Given the description of an element on the screen output the (x, y) to click on. 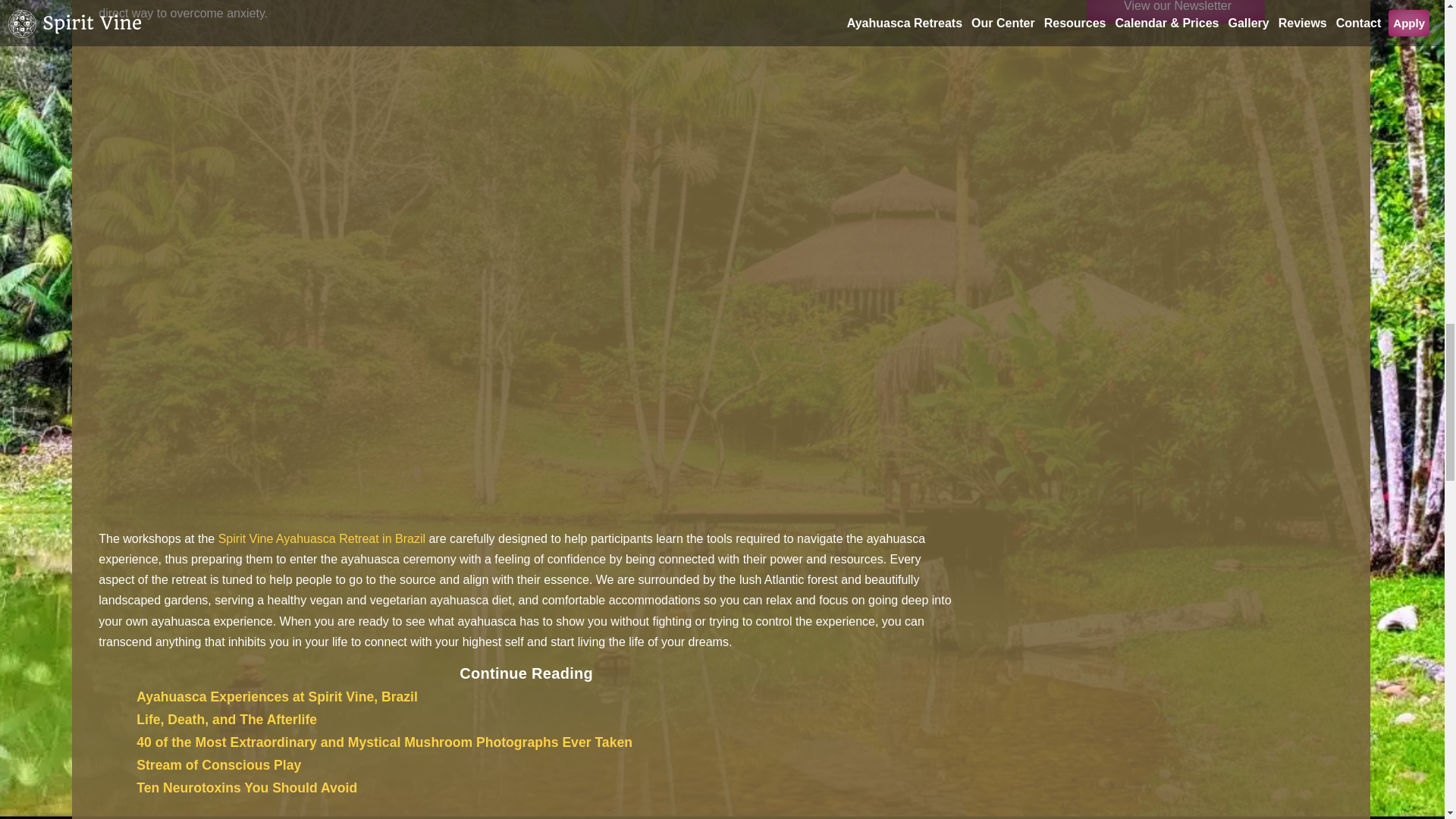
Ayahuasca Experiences at Spirit Vine, Brazil (276, 696)
Life, Death, and The Afterlife (226, 719)
Ten Neurotoxins You Should Avoid (246, 787)
Stream of Conscious Play (218, 765)
